Given the description of an element on the screen output the (x, y) to click on. 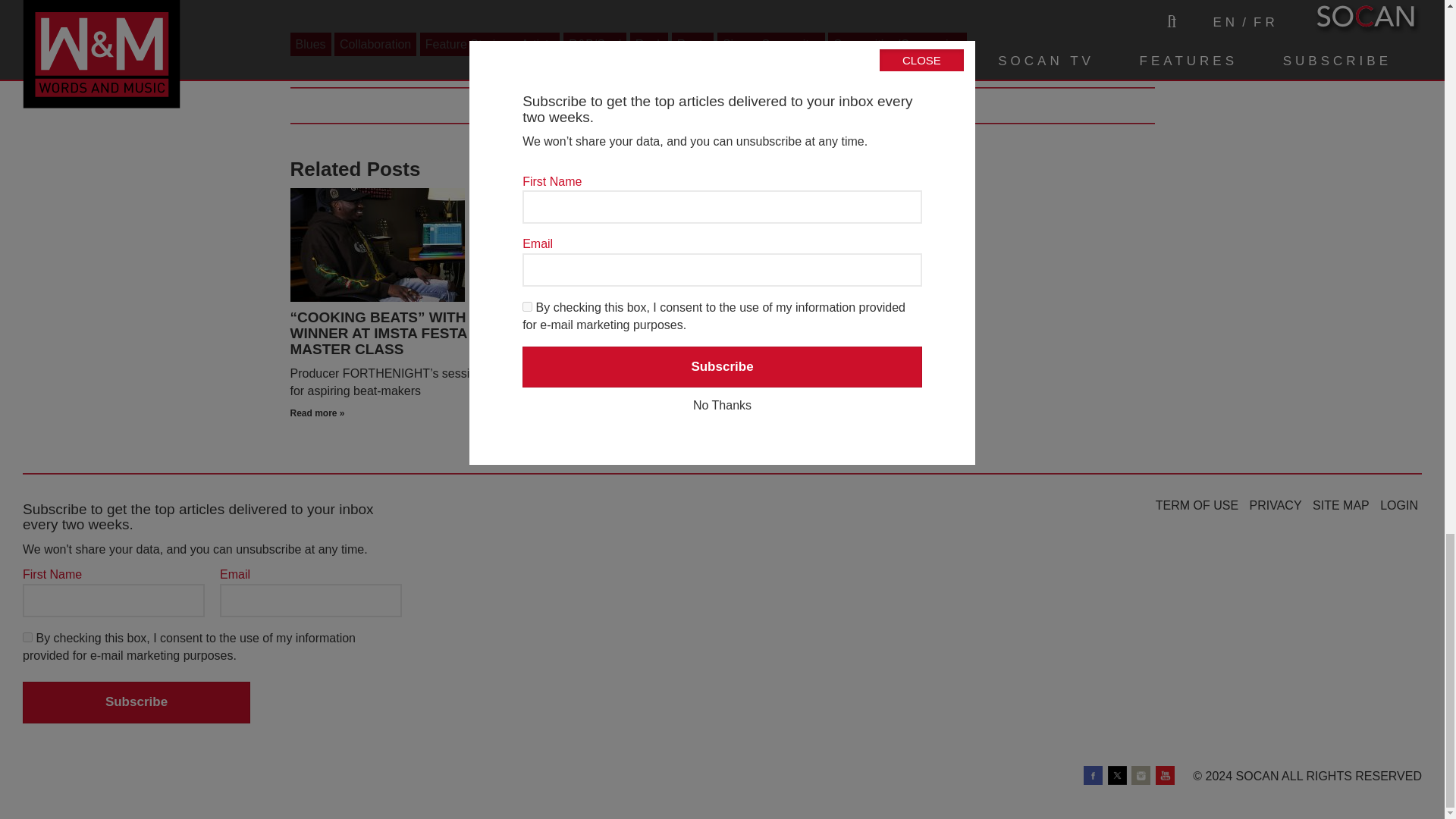
1 (27, 637)
